Given the description of an element on the screen output the (x, y) to click on. 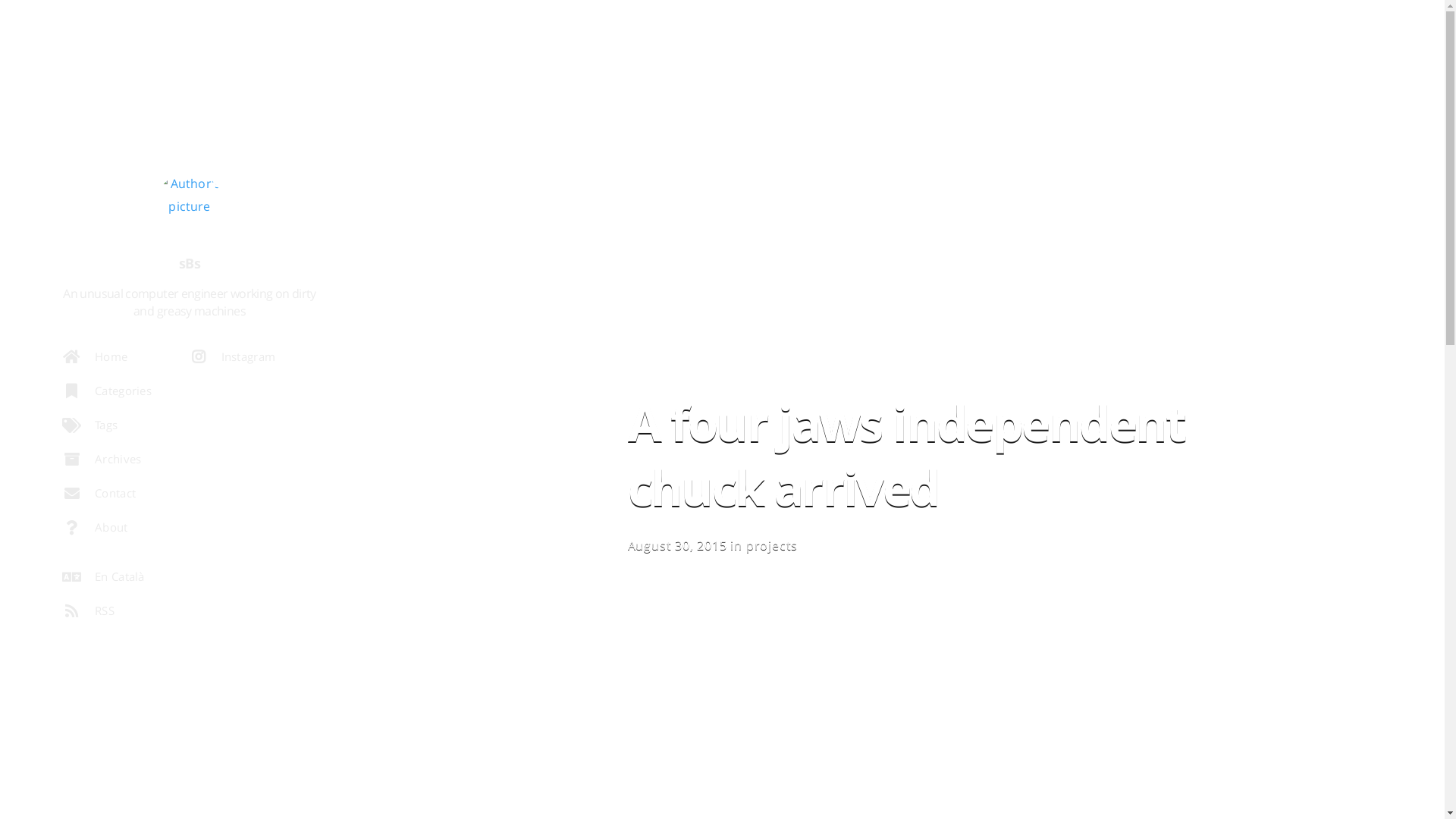
Home Element type: text (116, 360)
projects Element type: text (771, 544)
About Element type: text (123, 531)
Archives Element type: text (123, 462)
Tags Element type: text (116, 428)
Categories Element type: text (123, 394)
RSS Element type: text (123, 614)
Contact Element type: text (116, 497)
Instagram Element type: text (242, 360)
